Given the description of an element on the screen output the (x, y) to click on. 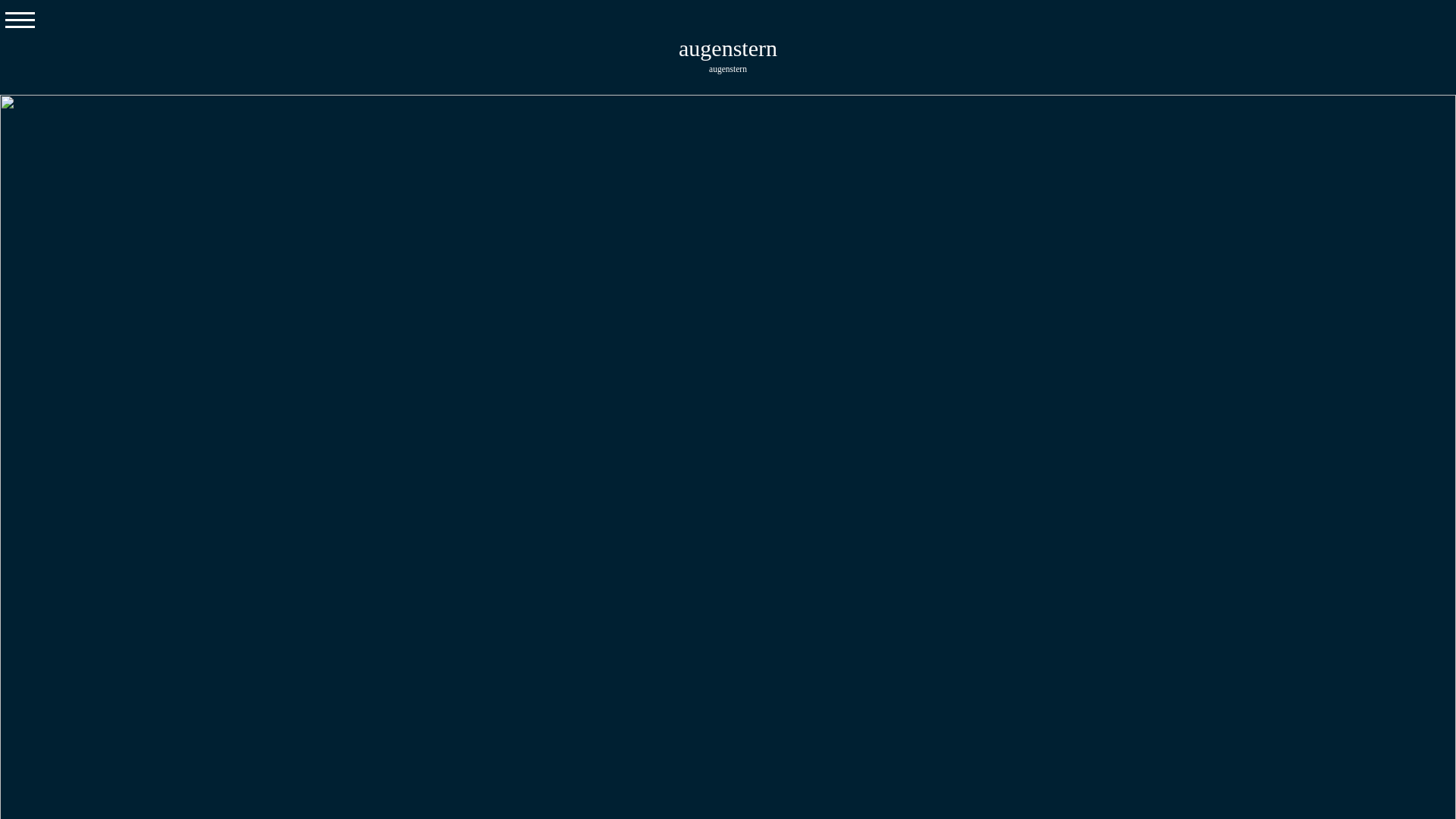
augenstern Element type: text (727, 47)
augenstern Element type: text (727, 67)
